Given the description of an element on the screen output the (x, y) to click on. 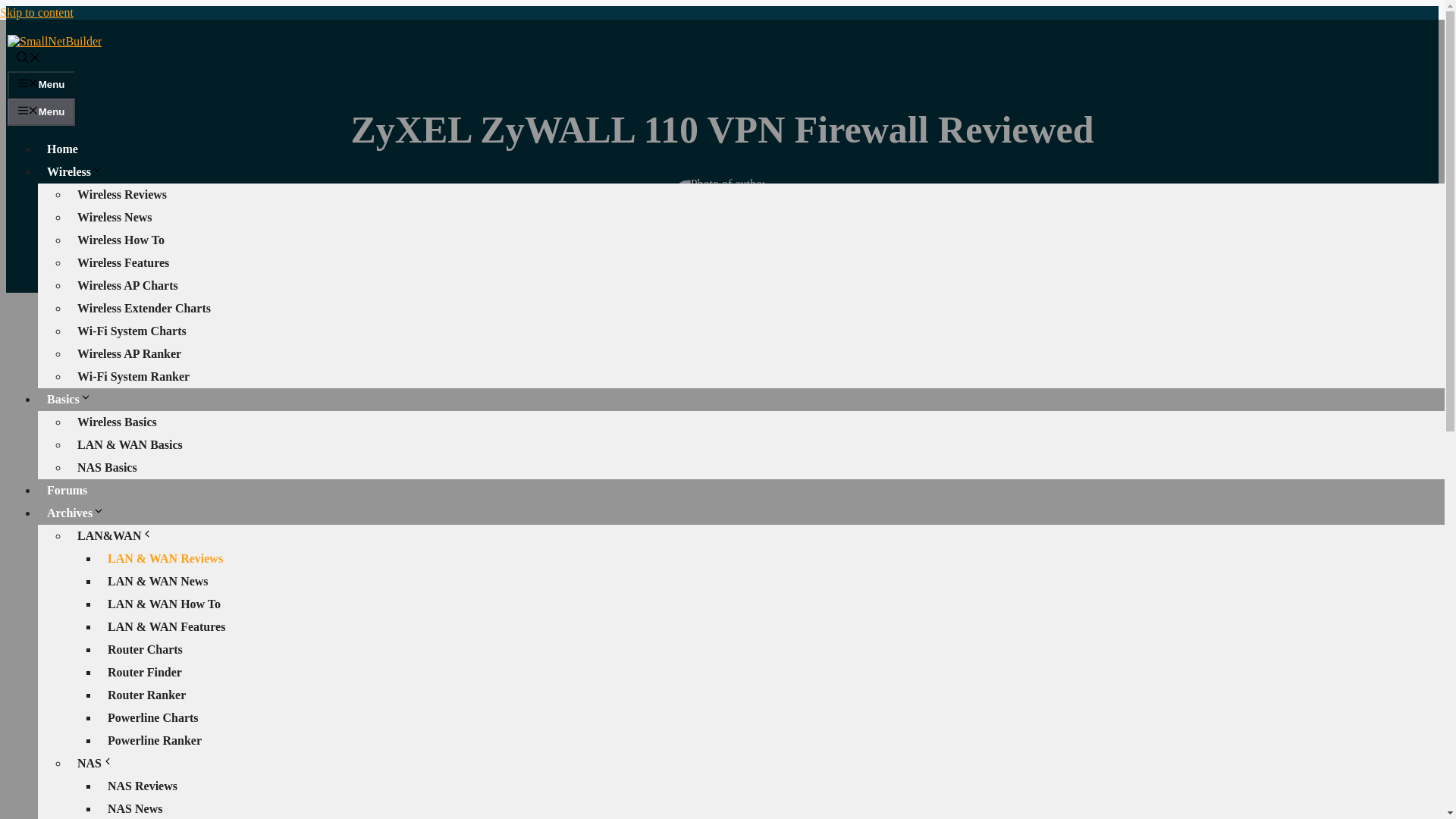
Home (62, 148)
Menu (41, 112)
Wireless Features (122, 262)
Wireless (78, 171)
Skip to content (37, 11)
Wireless News (114, 216)
Menu (41, 84)
Skip to content (37, 11)
Wireless How To (120, 239)
Wireless Reviews (122, 194)
